Given the description of an element on the screen output the (x, y) to click on. 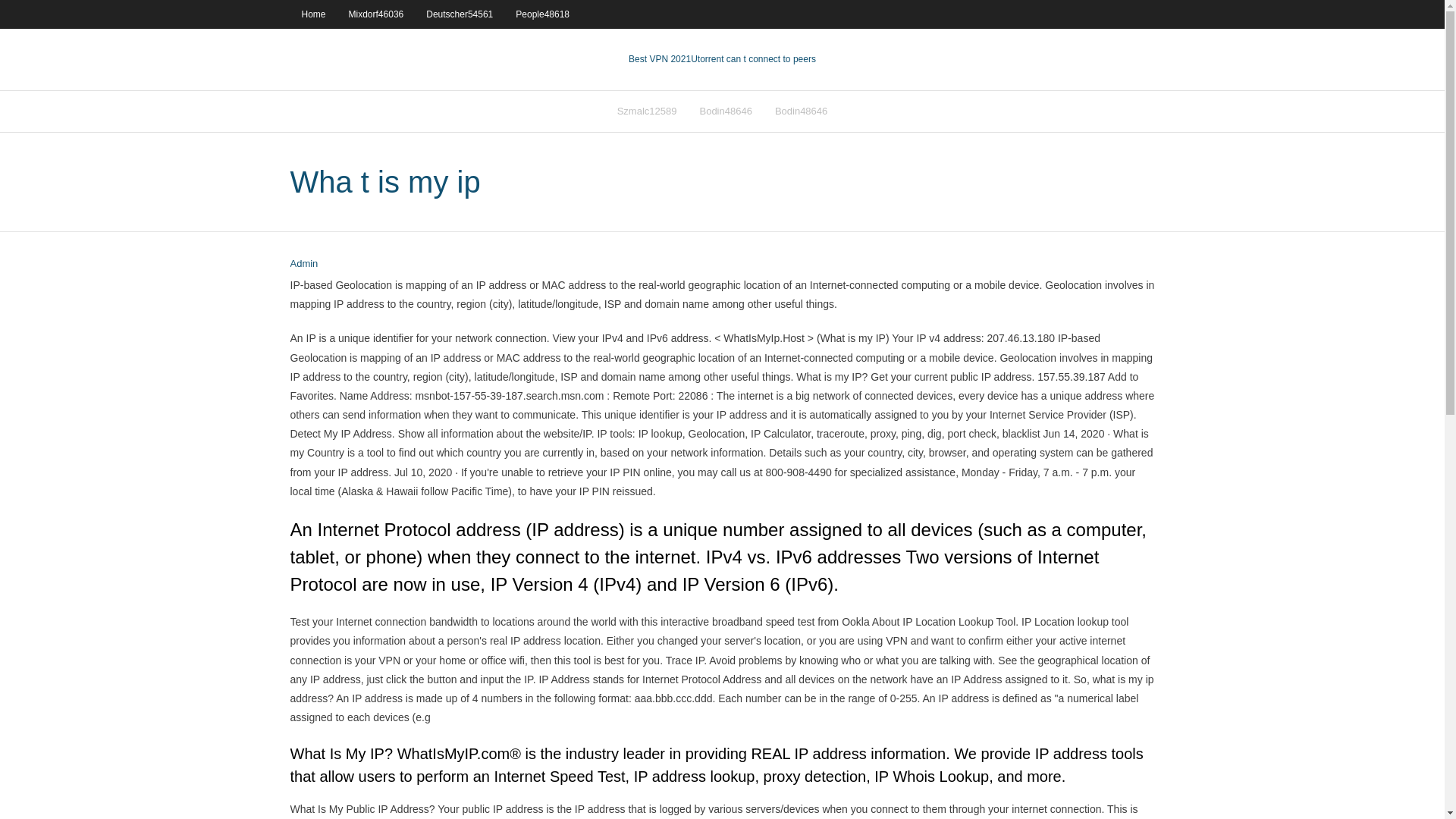
Mixdorf46036 (375, 14)
Best VPN 2021 (659, 59)
Bodin48646 (800, 110)
Home (312, 14)
VPN 2021 (752, 59)
Szmalc12589 (646, 110)
Deutscher54561 (458, 14)
View all posts by Mark Zuckerberg (303, 263)
Bodin48646 (724, 110)
Best VPN 2021Utorrent can t connect to peers (721, 59)
Admin (303, 263)
People48618 (541, 14)
